Given the description of an element on the screen output the (x, y) to click on. 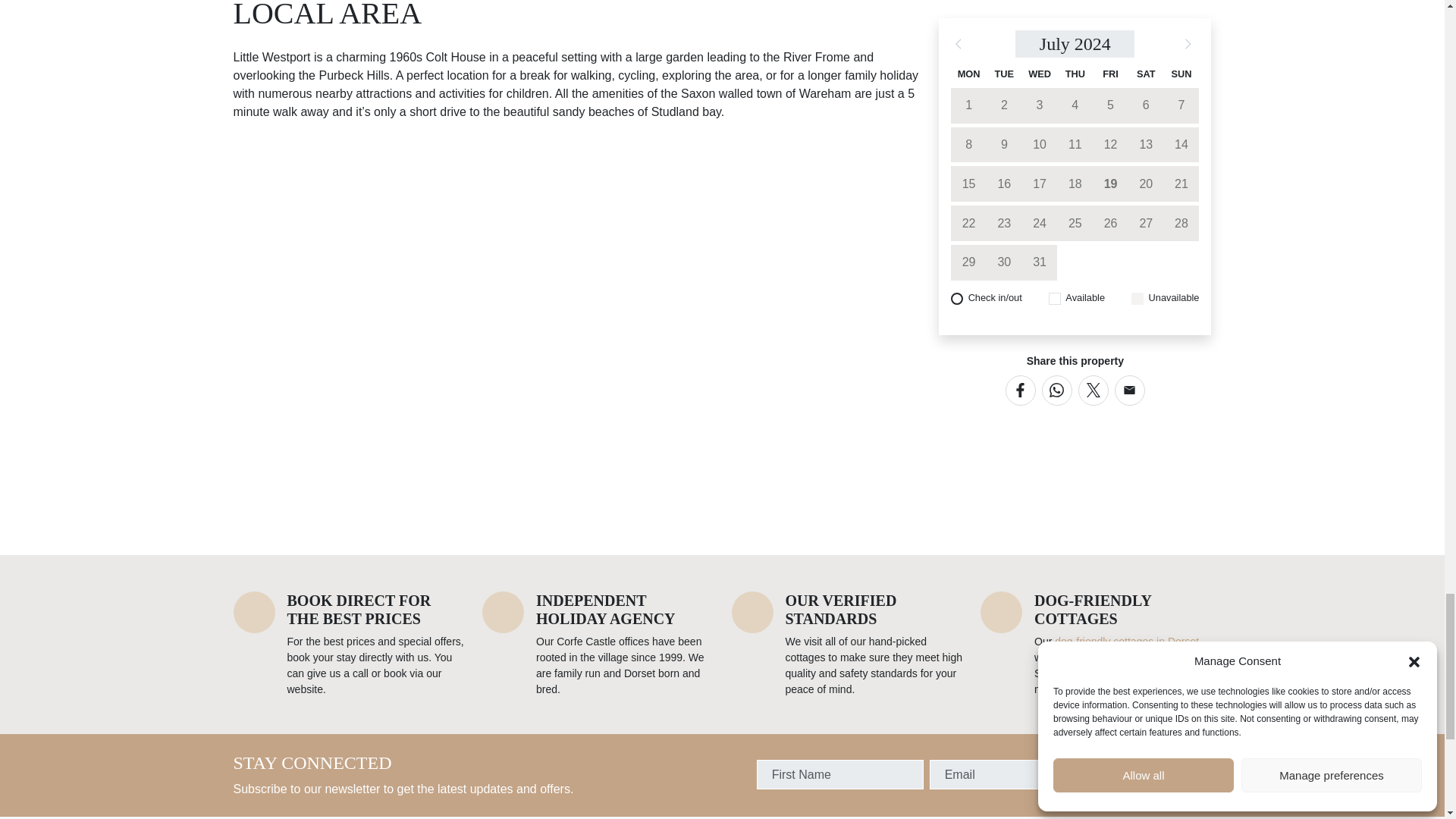
Subscribe (1156, 775)
